Given the description of an element on the screen output the (x, y) to click on. 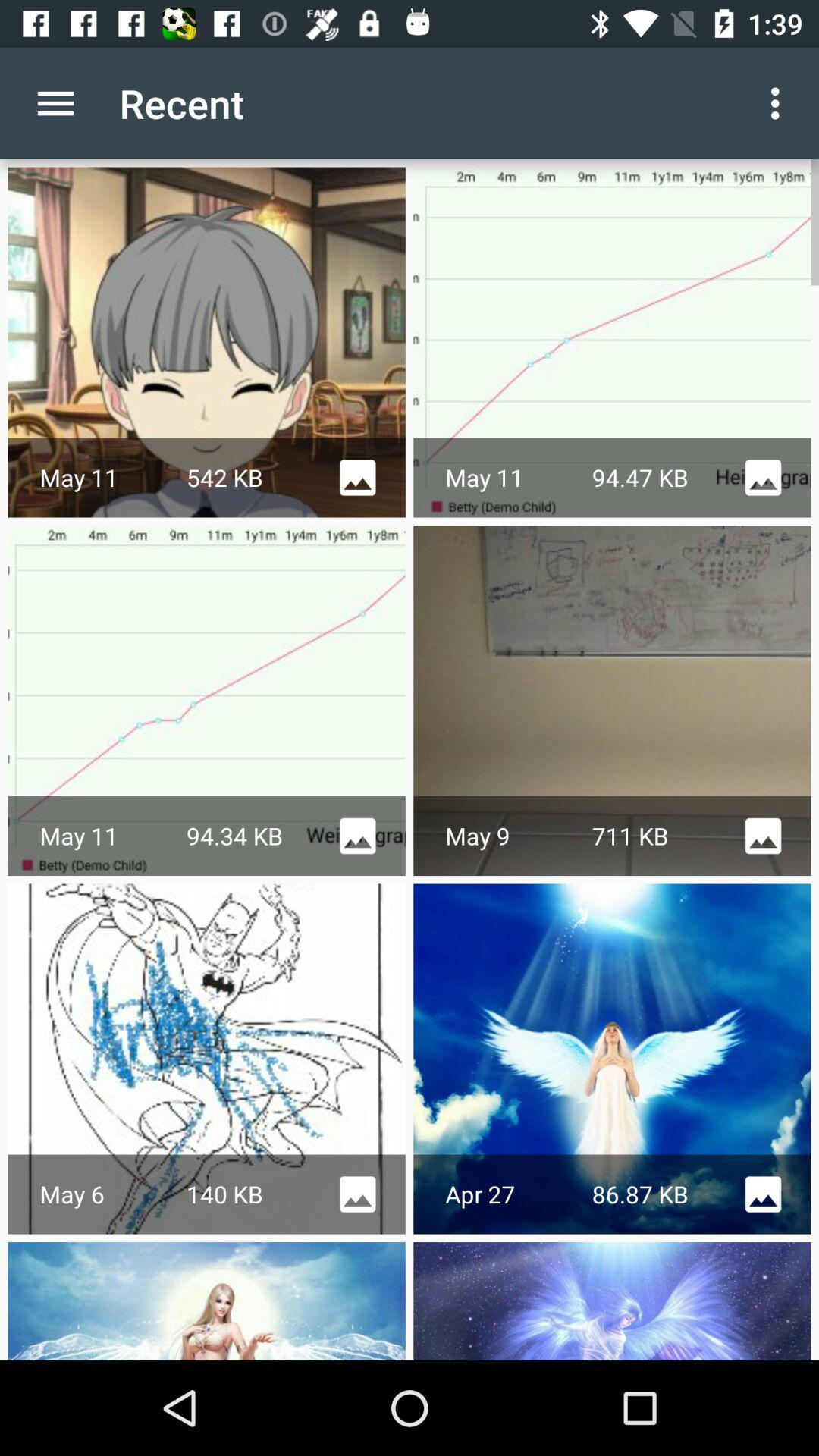
click icon next to recent app (779, 103)
